Given the description of an element on the screen output the (x, y) to click on. 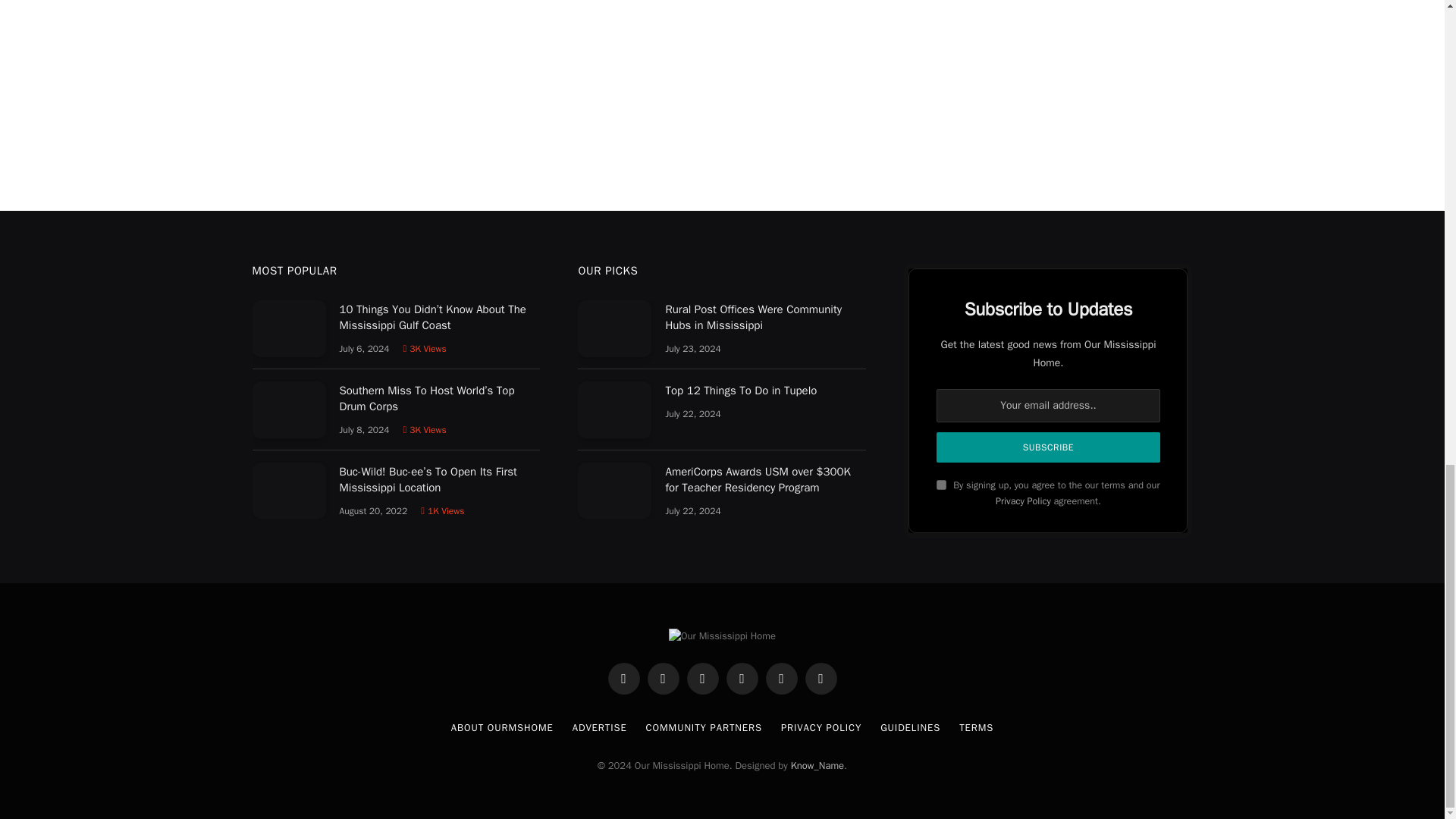
on (941, 484)
Subscribe (1047, 447)
